Given the description of an element on the screen output the (x, y) to click on. 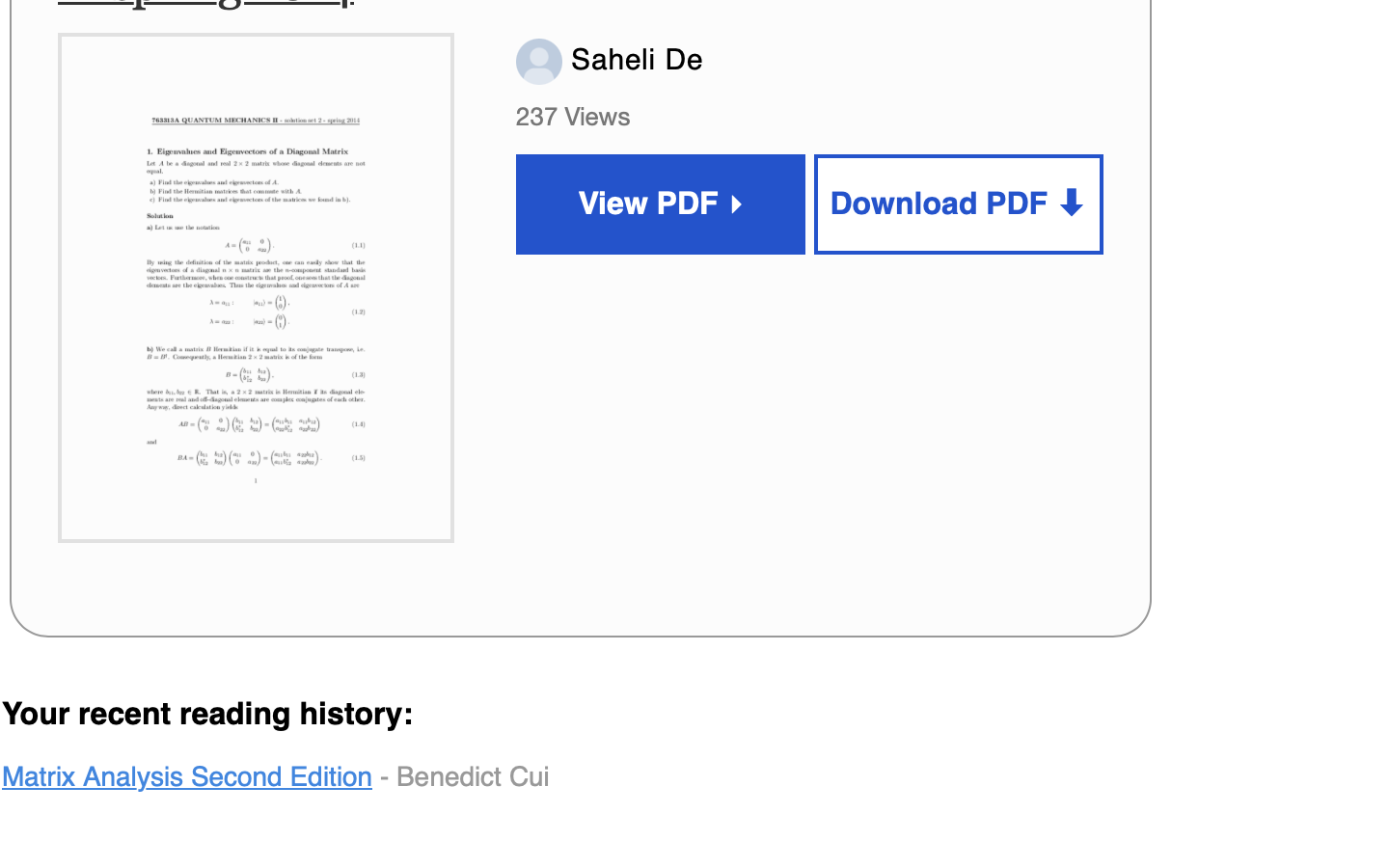
Download PDF ⬇ Element type: AXStaticText (958, 204)
237 Views Element type: AXStaticText (576, 116)
